Given the description of an element on the screen output the (x, y) to click on. 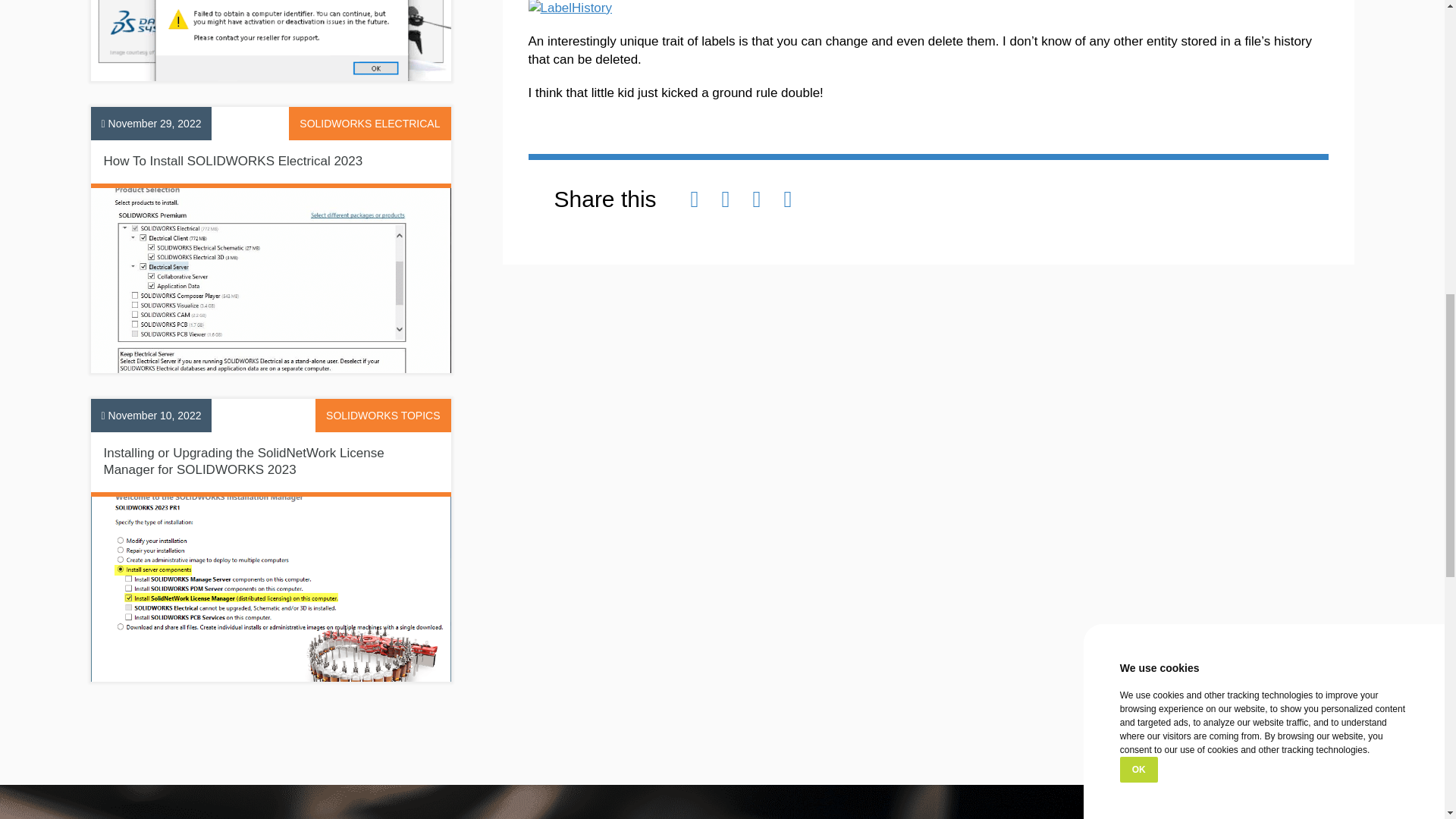
LabelHistory (569, 8)
